Given the description of an element on the screen output the (x, y) to click on. 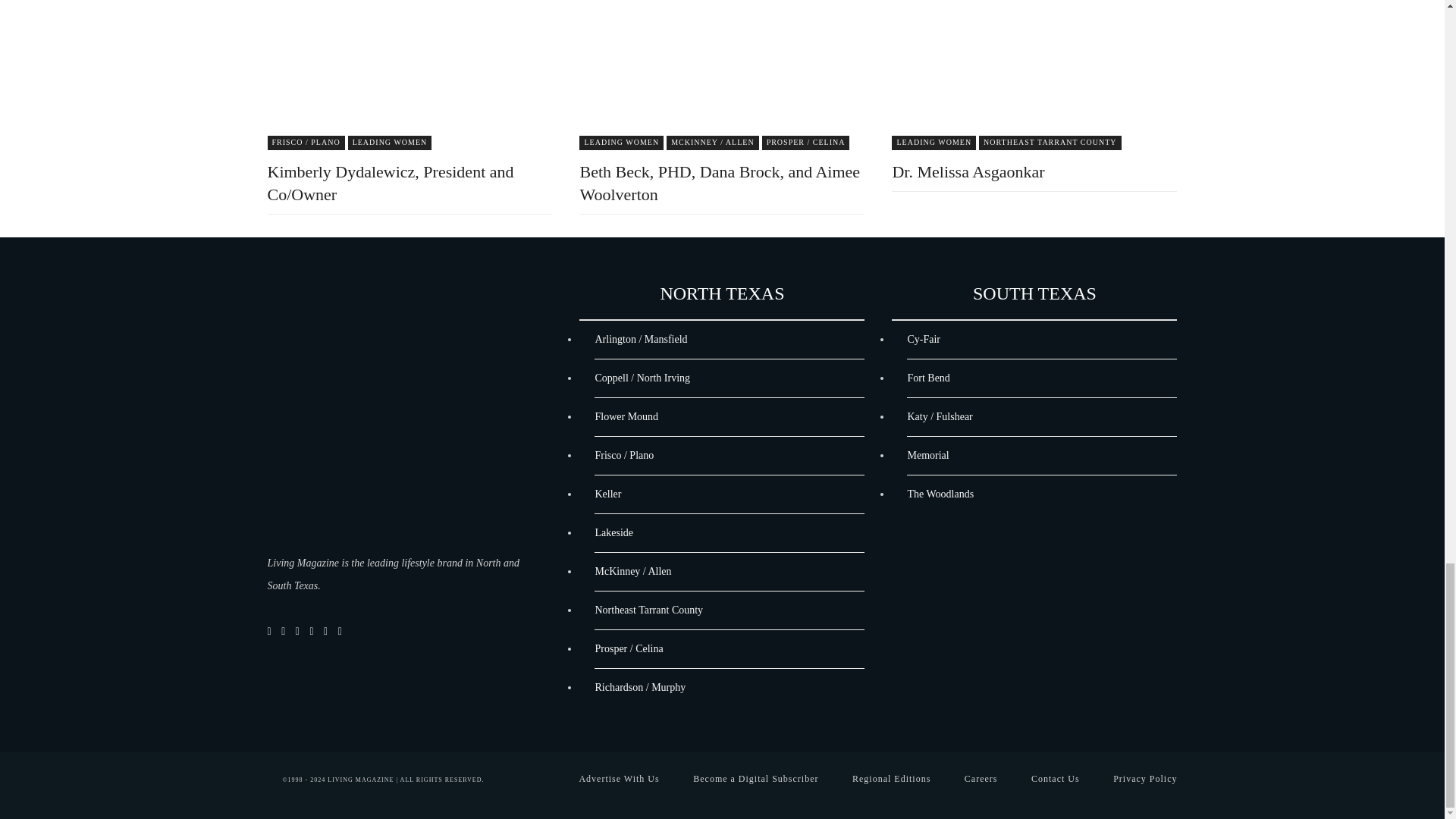
View all posts in 3680 (712, 142)
View all posts in 3677 (304, 142)
View all posts in 3670 (621, 142)
View all posts in 3683 (805, 142)
Living Magazine - Digital Edition (397, 420)
View all posts in 3670 (933, 142)
View all posts in 3670 (389, 142)
View all posts in 3682 (1049, 142)
